Given the description of an element on the screen output the (x, y) to click on. 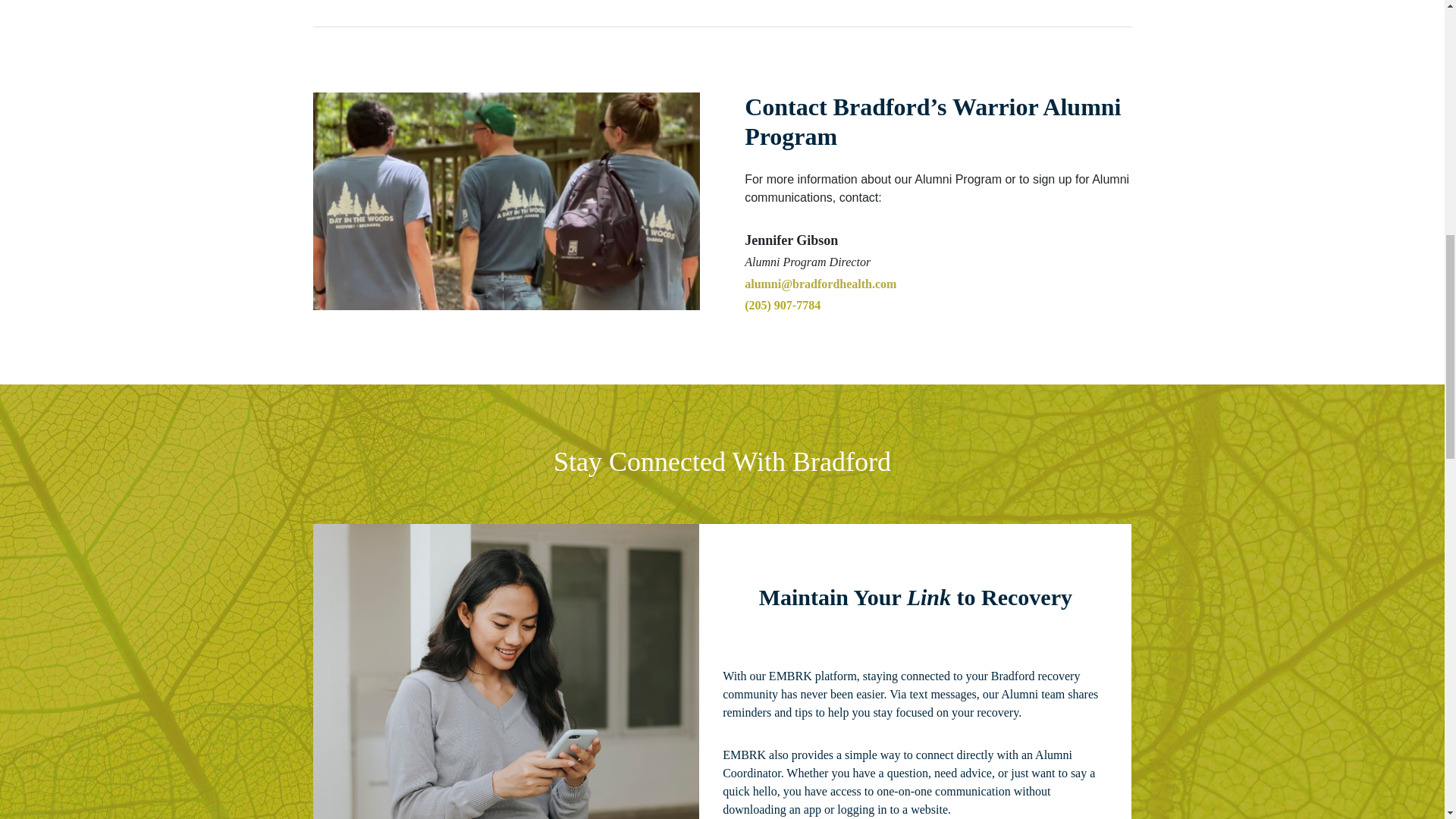
Bradford at Warrior Alumni Program (505, 201)
Bradford at Warrior Alumni EMBRK (505, 671)
